Given the description of an element on the screen output the (x, y) to click on. 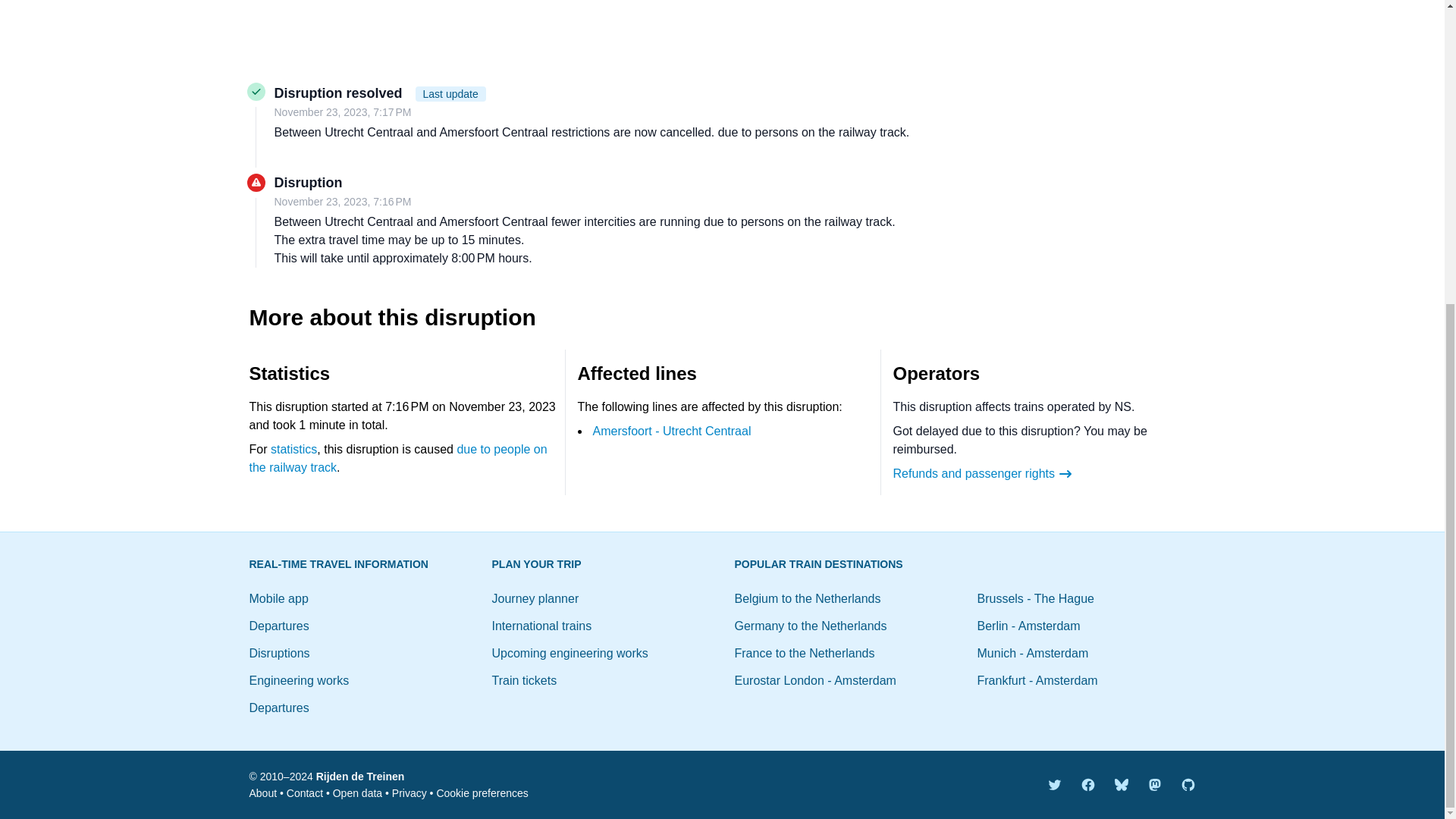
Mastodon (1154, 784)
Bluesky (1120, 784)
Journey planner (535, 598)
GitHub (1187, 784)
Facebook (1087, 784)
Upcoming engineering works (569, 653)
Amersfoort - Utrecht Centraal (671, 431)
Twitter (1053, 784)
due to people on the railway track (397, 458)
Departures (278, 707)
